Given the description of an element on the screen output the (x, y) to click on. 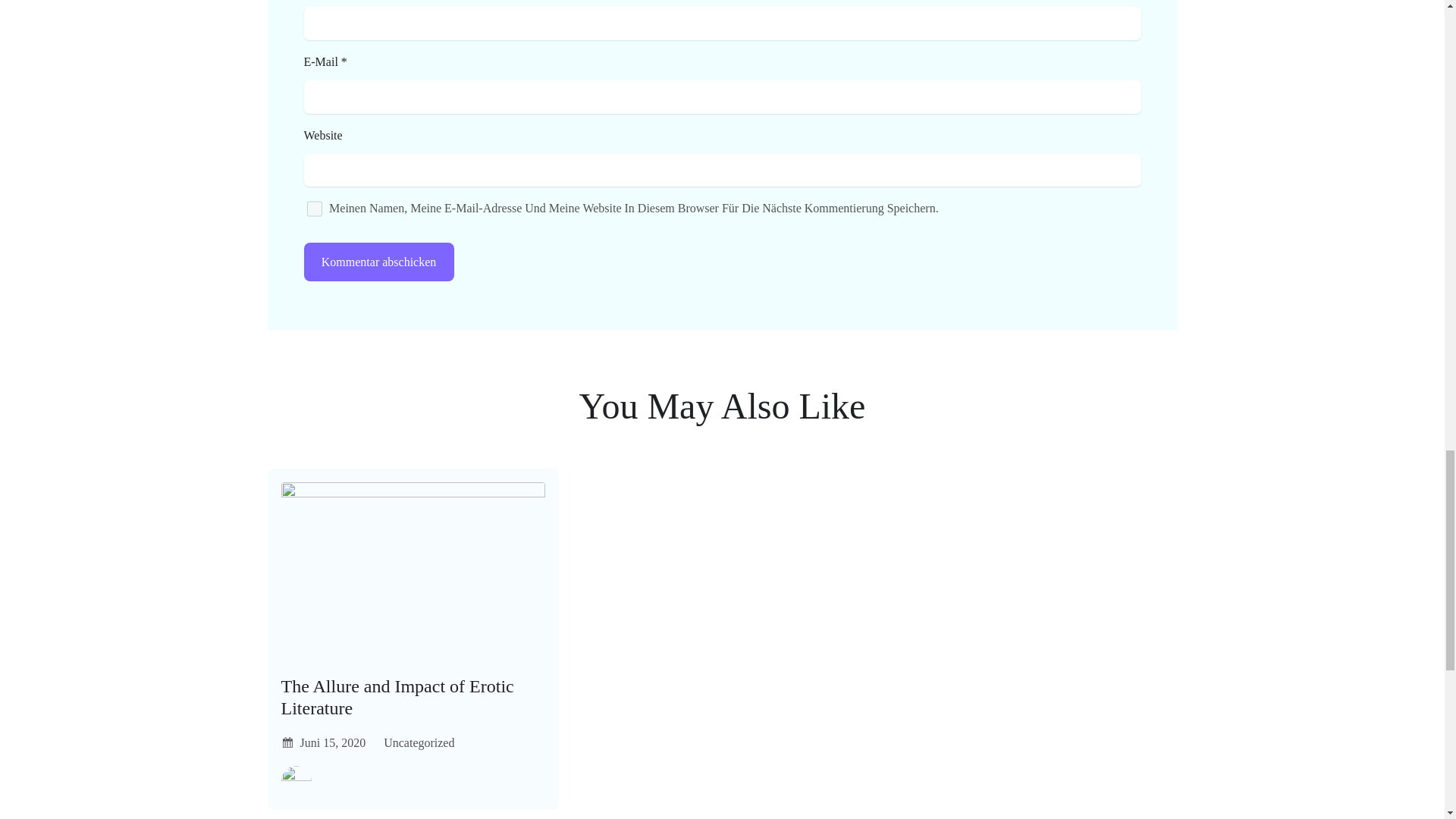
Kommentar abschicken (377, 261)
Kommentar abschicken (377, 261)
Uncategorized (419, 742)
The Allure and Impact of Erotic Literature (412, 697)
